Given the description of an element on the screen output the (x, y) to click on. 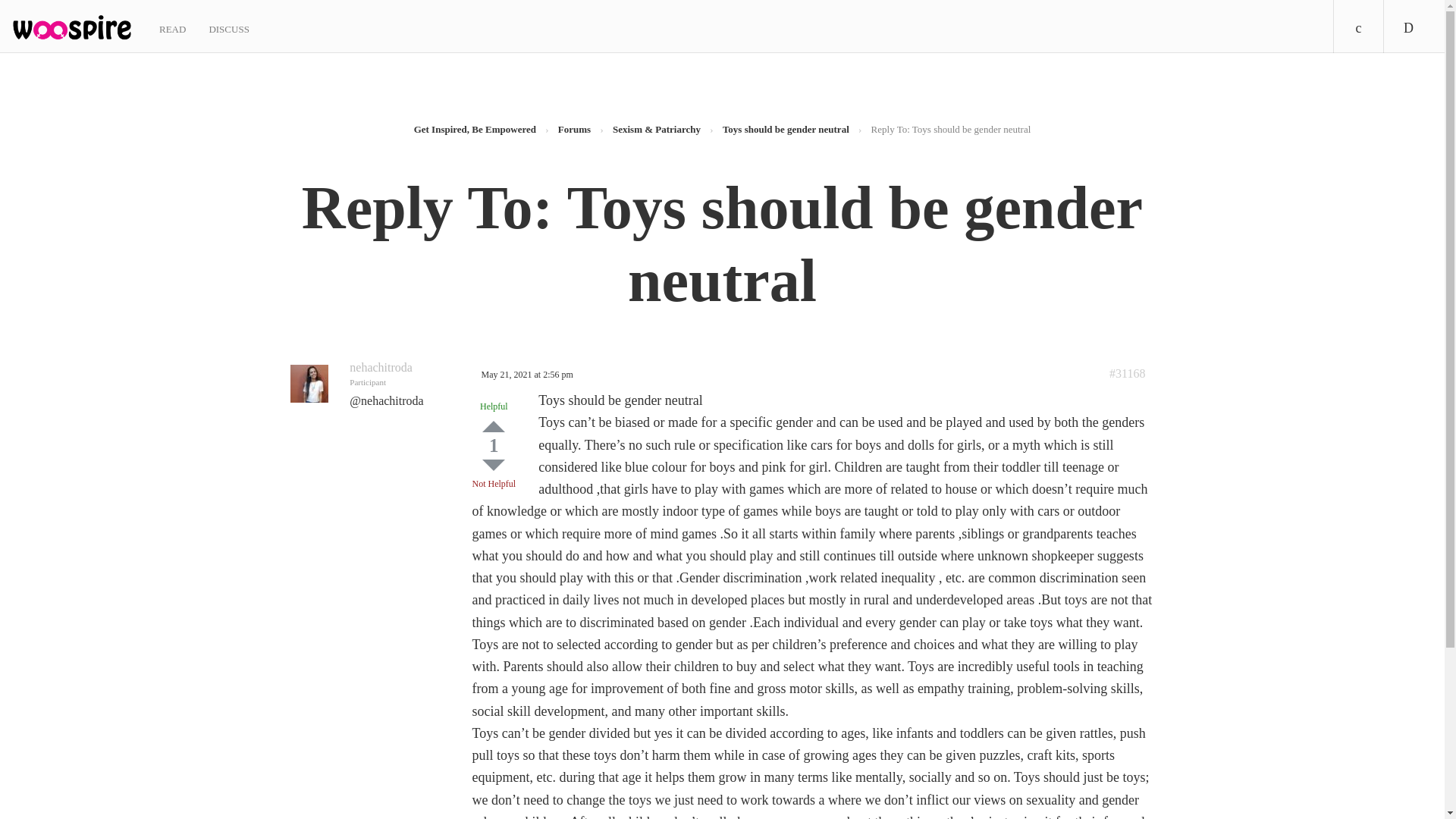
Forums (574, 129)
Get Inspired, Be Empowered (474, 129)
Toys should be gender neutral (785, 129)
Reply To: Toys should be gender neutral (1126, 373)
View nehachitroda's profile (380, 367)
nehachitroda (380, 367)
